Given the description of an element on the screen output the (x, y) to click on. 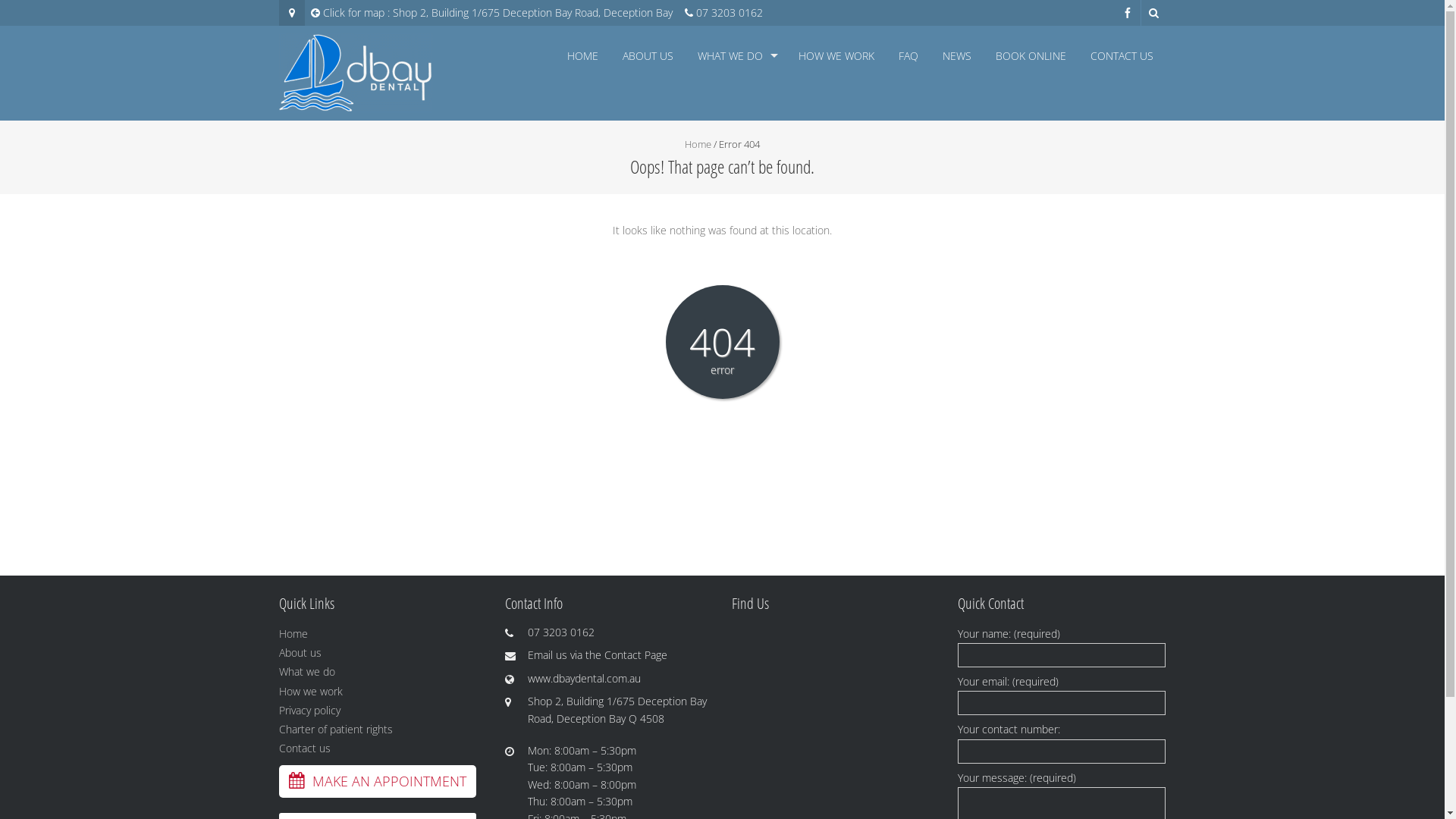
07 3203 0162 Element type: text (729, 12)
Contact us Element type: text (304, 747)
CONTACT US Element type: text (1121, 55)
FAQ Element type: text (908, 55)
NEWS Element type: text (956, 55)
How we work Element type: text (310, 691)
Charter of patient rights Element type: text (335, 728)
HOME Element type: text (581, 55)
Home Element type: text (697, 143)
Home Element type: text (293, 633)
HOW WE WORK Element type: text (836, 55)
About us Element type: text (300, 652)
  MAKE AN APPOINTMENT Element type: text (377, 782)
ABOUT US Element type: text (647, 55)
Privacy policy Element type: text (309, 709)
WHAT WE DO Element type: text (734, 55)
BOOK ONLINE Element type: text (1030, 55)
What we do Element type: text (307, 671)
